Given the description of an element on the screen output the (x, y) to click on. 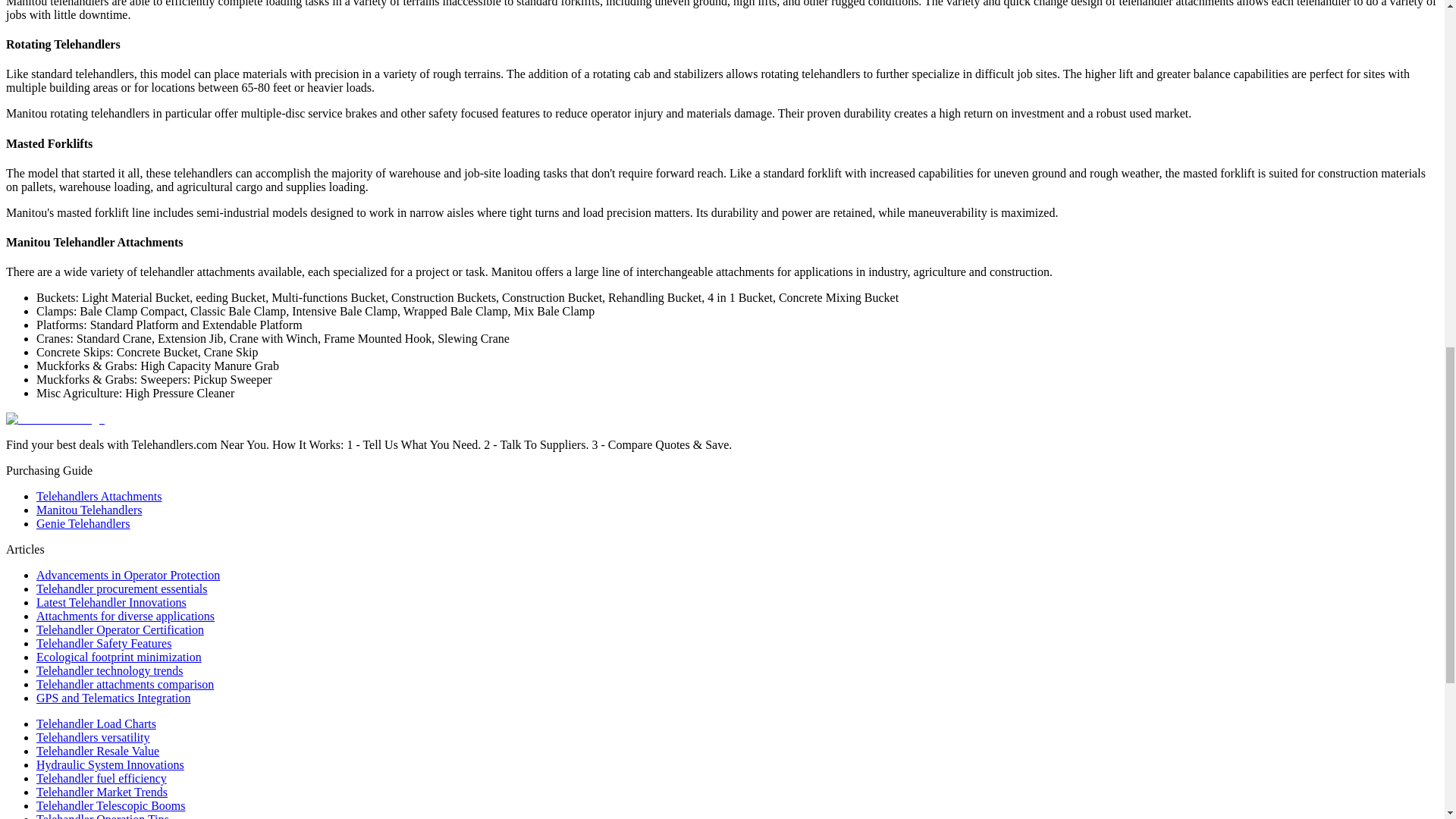
Telehandler Resale Value (97, 750)
Telehandler attachments comparison (125, 684)
Telehandlers Attachments (98, 495)
Advancements in Operator Protection (127, 574)
Latest Telehandler Innovations (111, 602)
Telehandler Operation Tips (102, 816)
Telehandler Load Charts (95, 723)
Telehandler Safety Features (103, 643)
Hydraulic System Innovations (110, 764)
Telehandler Telescopic Booms (111, 805)
